Given the description of an element on the screen output the (x, y) to click on. 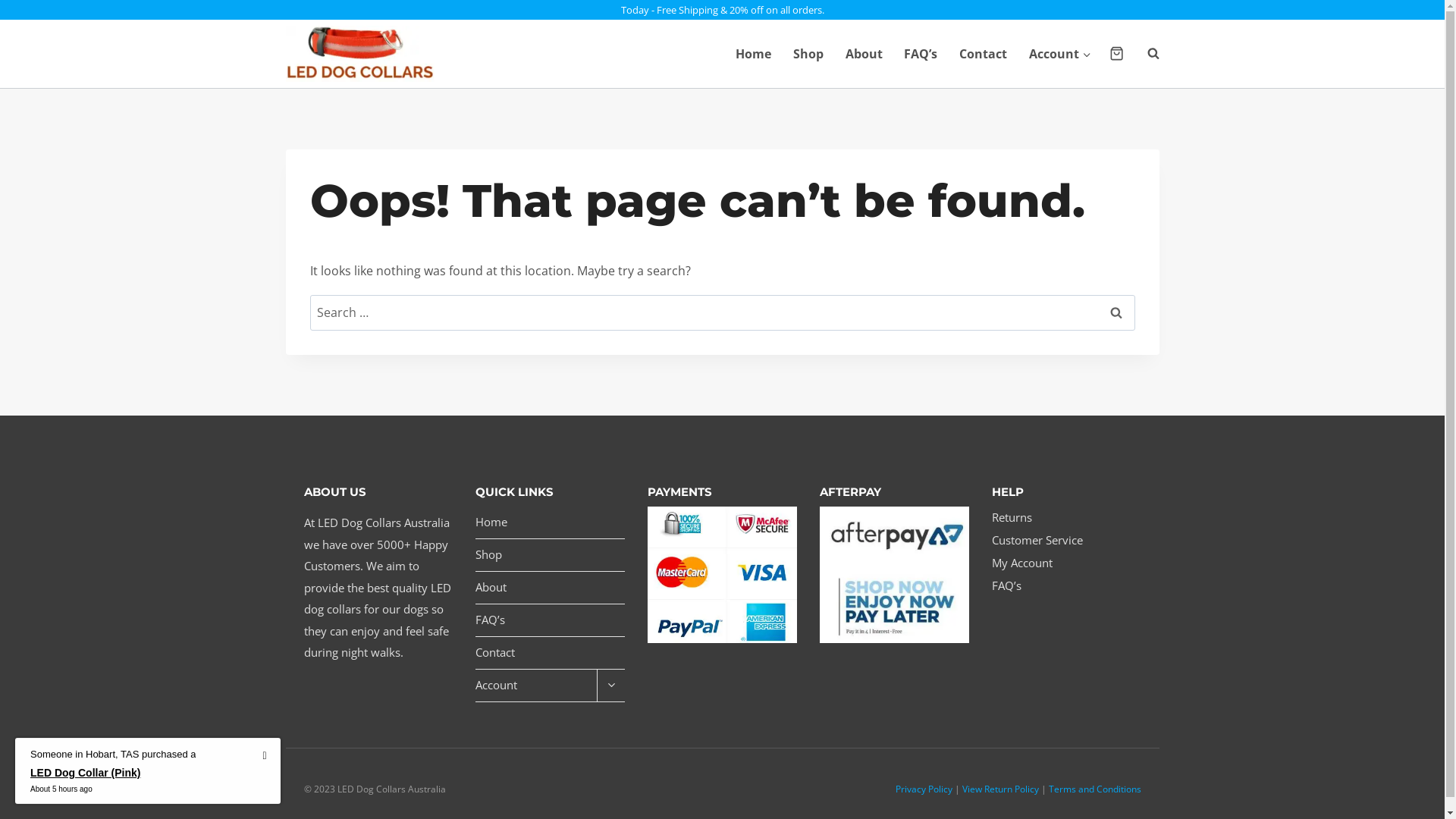
Contact Element type: text (983, 53)
Shop Element type: text (549, 555)
Account Element type: text (535, 685)
Returns Element type: text (1066, 517)
My Account Element type: text (1066, 563)
About Element type: text (863, 53)
Search Element type: text (1115, 312)
Privacy Policy Element type: text (922, 788)
Customer Service Element type: text (1066, 540)
About Element type: text (549, 587)
Contact Element type: text (549, 653)
Home Element type: text (549, 522)
Terms and Conditions Element type: text (1094, 788)
LED Dog Collar (Pink) Element type: text (112, 779)
Expand child menu Element type: text (610, 685)
Home Element type: text (753, 53)
View Return Policy Element type: text (999, 788)
Shop Element type: text (807, 53)
Account Element type: text (1060, 53)
